Given the description of an element on the screen output the (x, y) to click on. 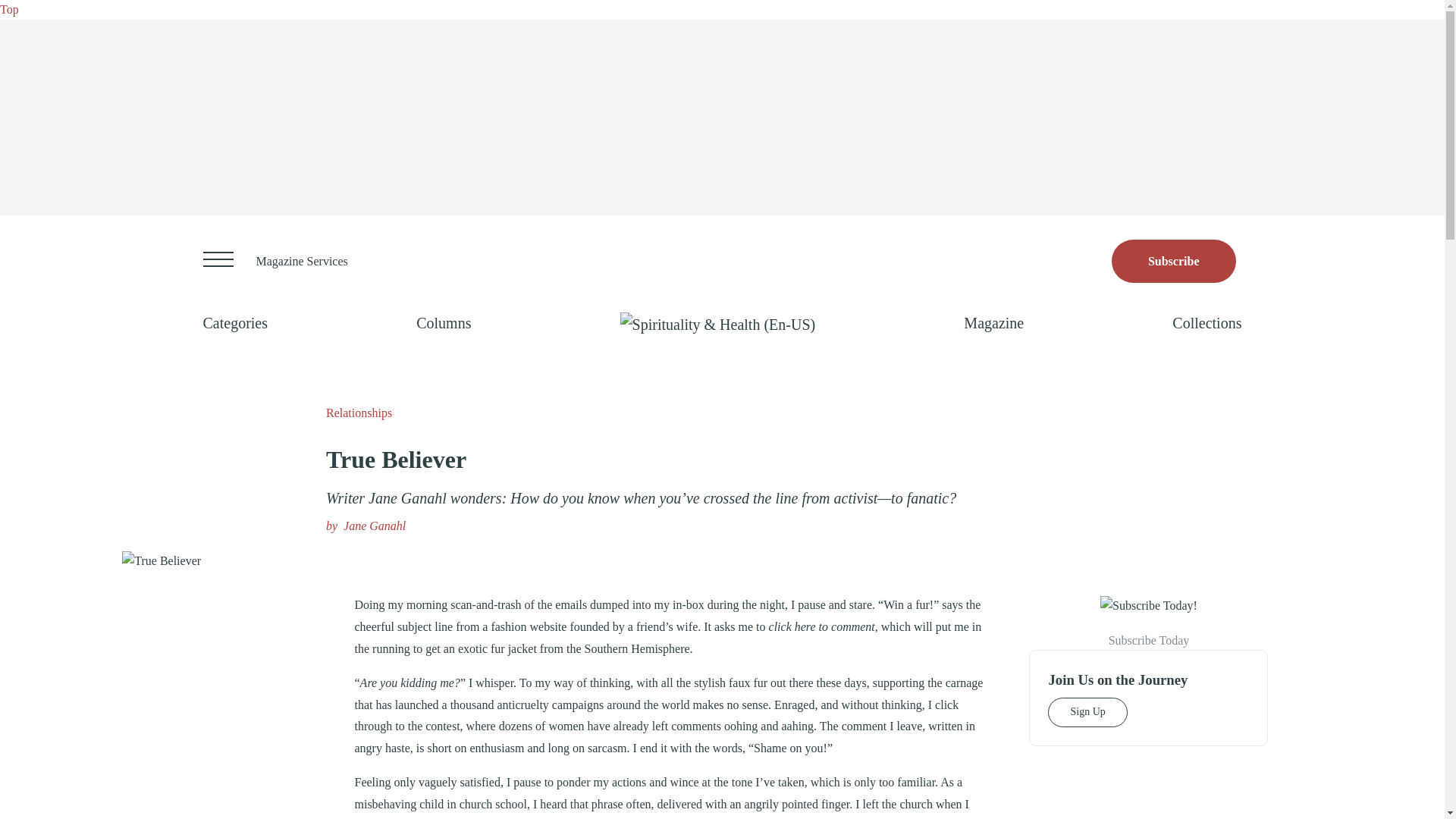
Magazine (993, 322)
Subscribe (1174, 261)
Categories (235, 322)
Opens to Store site (1174, 261)
Top (9, 9)
Magazine Services (301, 260)
Columns (443, 322)
Collections (1206, 322)
